Given the description of an element on the screen output the (x, y) to click on. 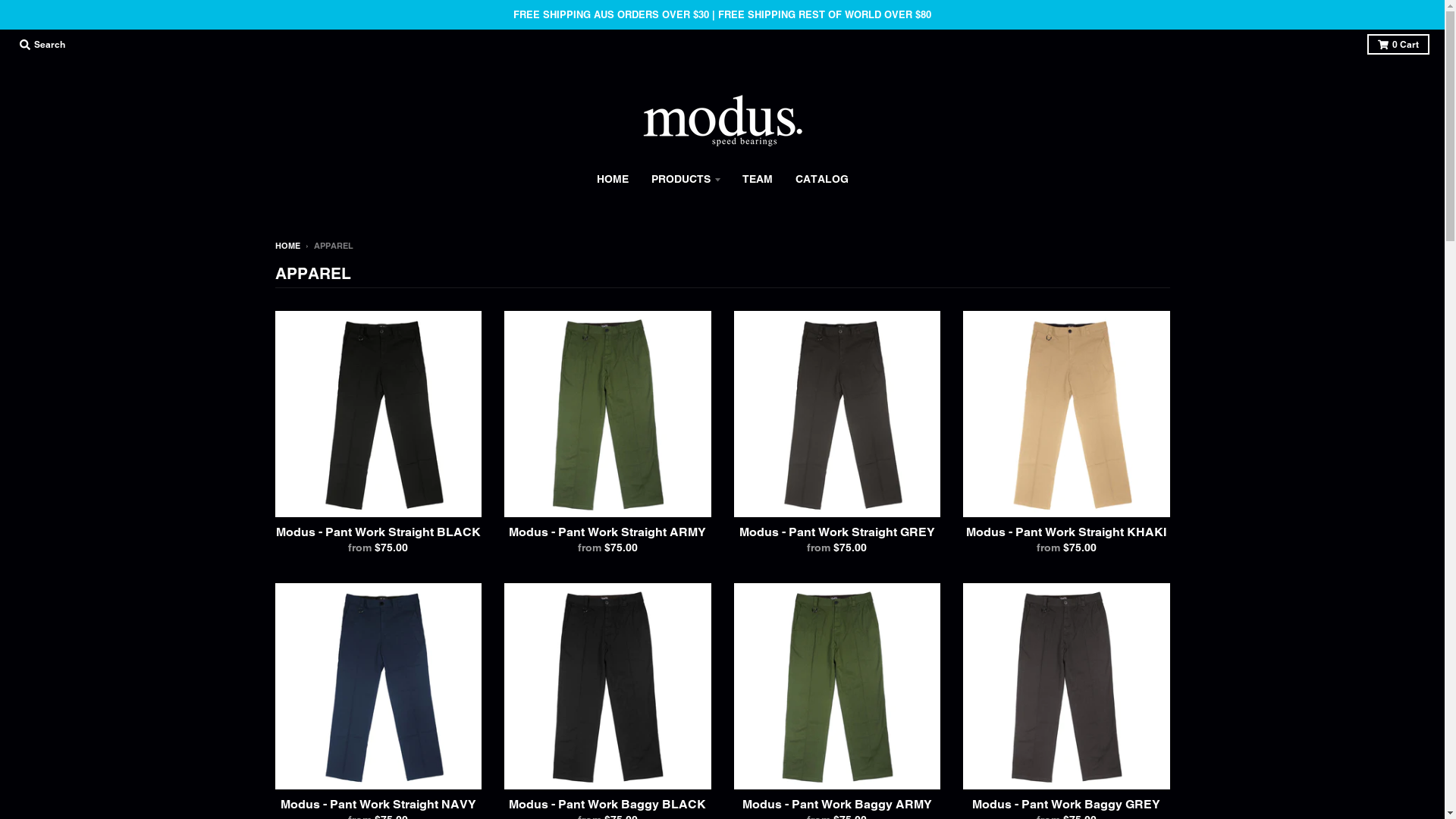
CATALOG Element type: text (821, 178)
HOME Element type: text (286, 245)
Modus - Pant Work Straight ARMY Element type: text (607, 531)
Modus - Pant Work Straight GREY Element type: text (837, 531)
Modus - Pant Work Straight KHAKI Element type: text (1066, 531)
0 Cart Element type: text (1398, 44)
Modus - Pant Work Baggy GREY Element type: text (1066, 804)
Modus - Pant Work Baggy BLACK Element type: text (607, 804)
Modus - Pant Work Baggy ARMY Element type: text (836, 804)
TEAM Element type: text (757, 178)
Search Element type: text (42, 44)
HOME Element type: text (612, 178)
Modus - Pant Work Straight BLACK Element type: text (378, 531)
PRODUCTS Element type: text (685, 178)
Modus - Pant Work Straight NAVY Element type: text (378, 804)
